Given the description of an element on the screen output the (x, y) to click on. 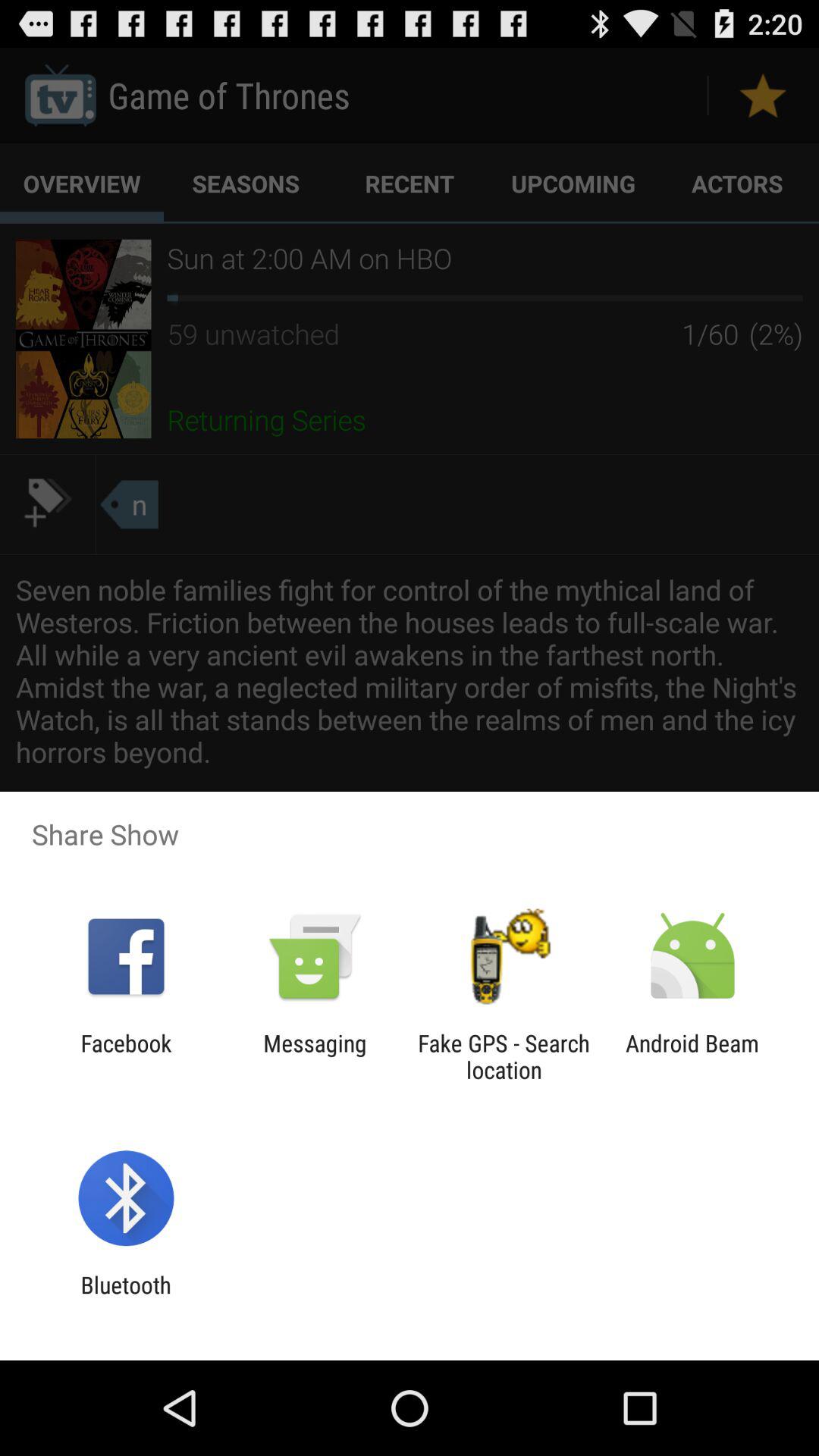
tap the facebook icon (125, 1056)
